Given the description of an element on the screen output the (x, y) to click on. 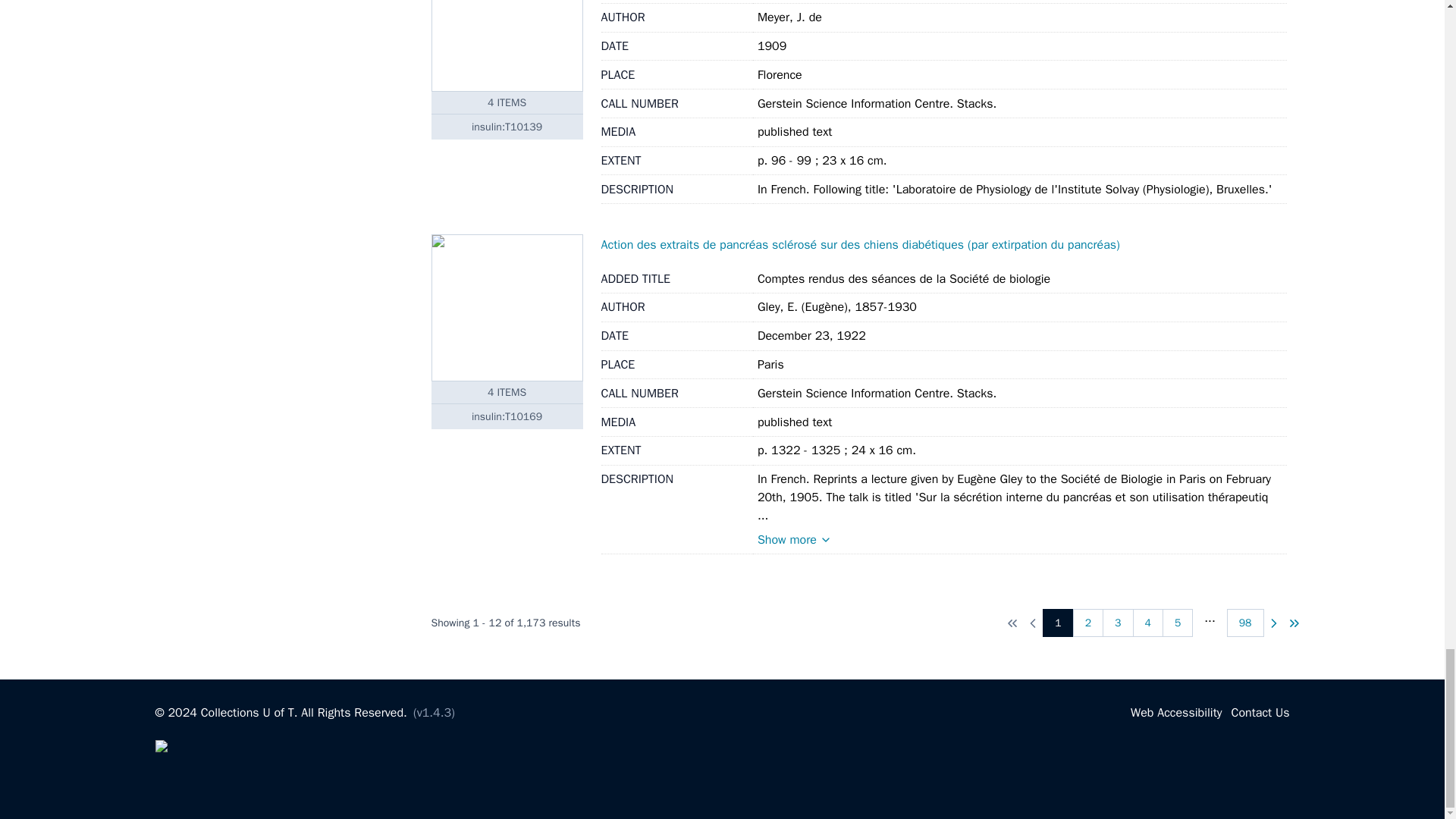
Digital Identifier: insulin:T10139 (506, 126)
Digital Identifier: insulin:T10169 (506, 416)
